Given the description of an element on the screen output the (x, y) to click on. 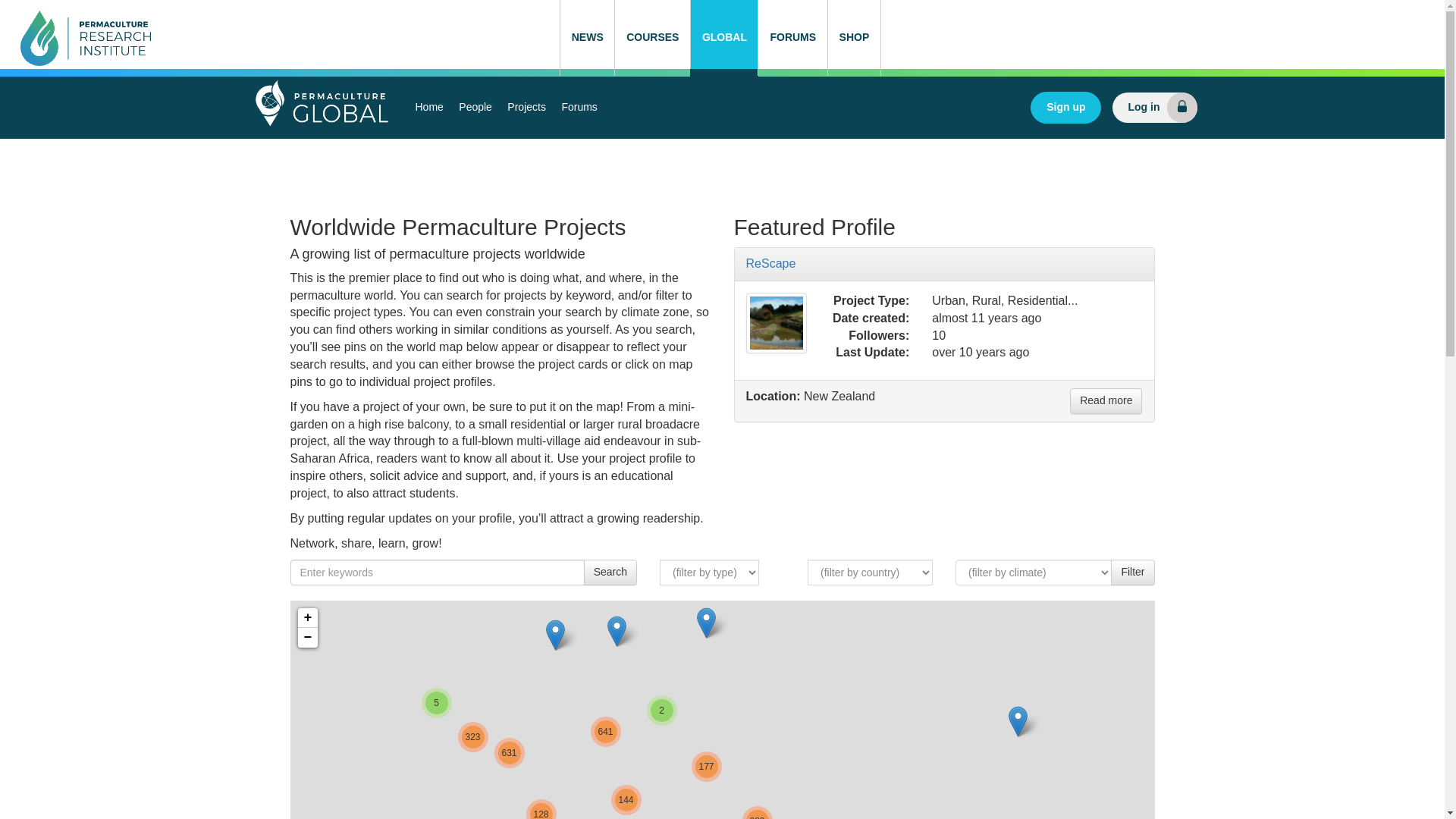
Zoom out (307, 637)
COURSES (652, 38)
GLOBAL (724, 38)
People (474, 107)
ReScape (775, 322)
Sign up (1065, 107)
Search (610, 572)
Forums (578, 107)
Home (429, 107)
ReScape (770, 263)
